Given the description of an element on the screen output the (x, y) to click on. 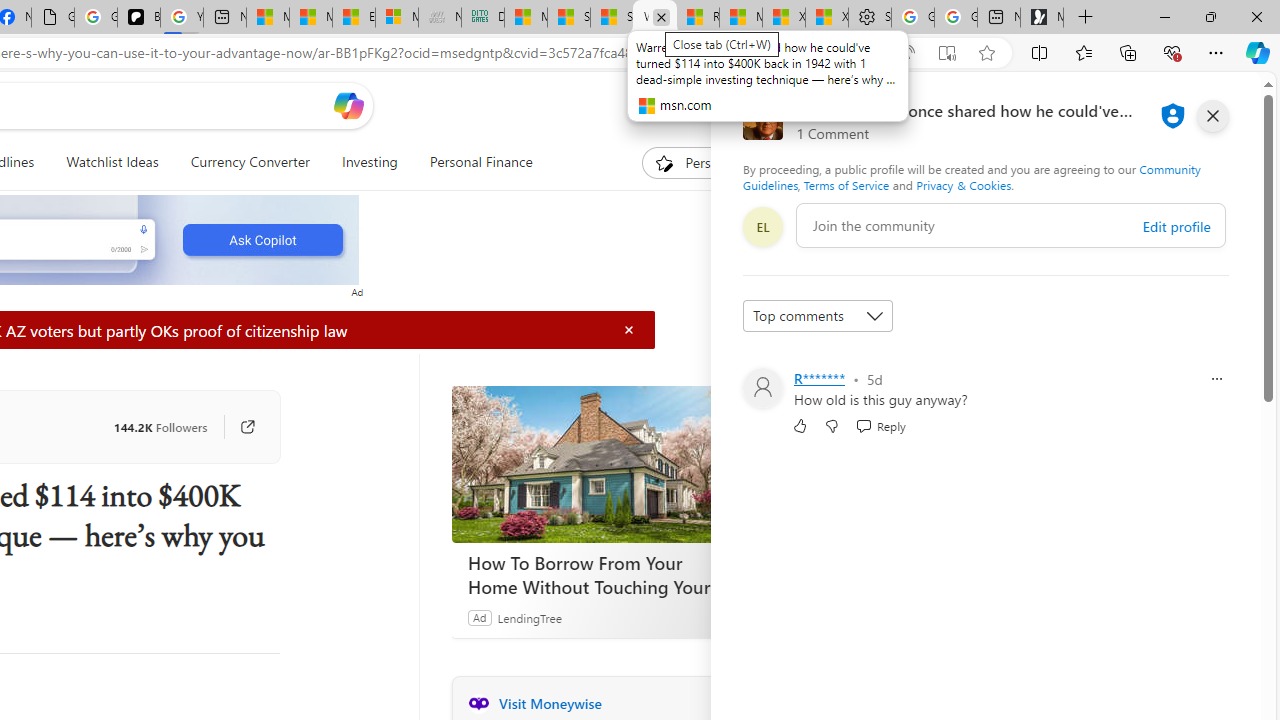
Watchlist Ideas (112, 162)
Go to publisher's site (237, 426)
Moneywise (478, 703)
Edit profile (1175, 226)
Report comment (1216, 378)
Community Guidelines (971, 176)
